Given the description of an element on the screen output the (x, y) to click on. 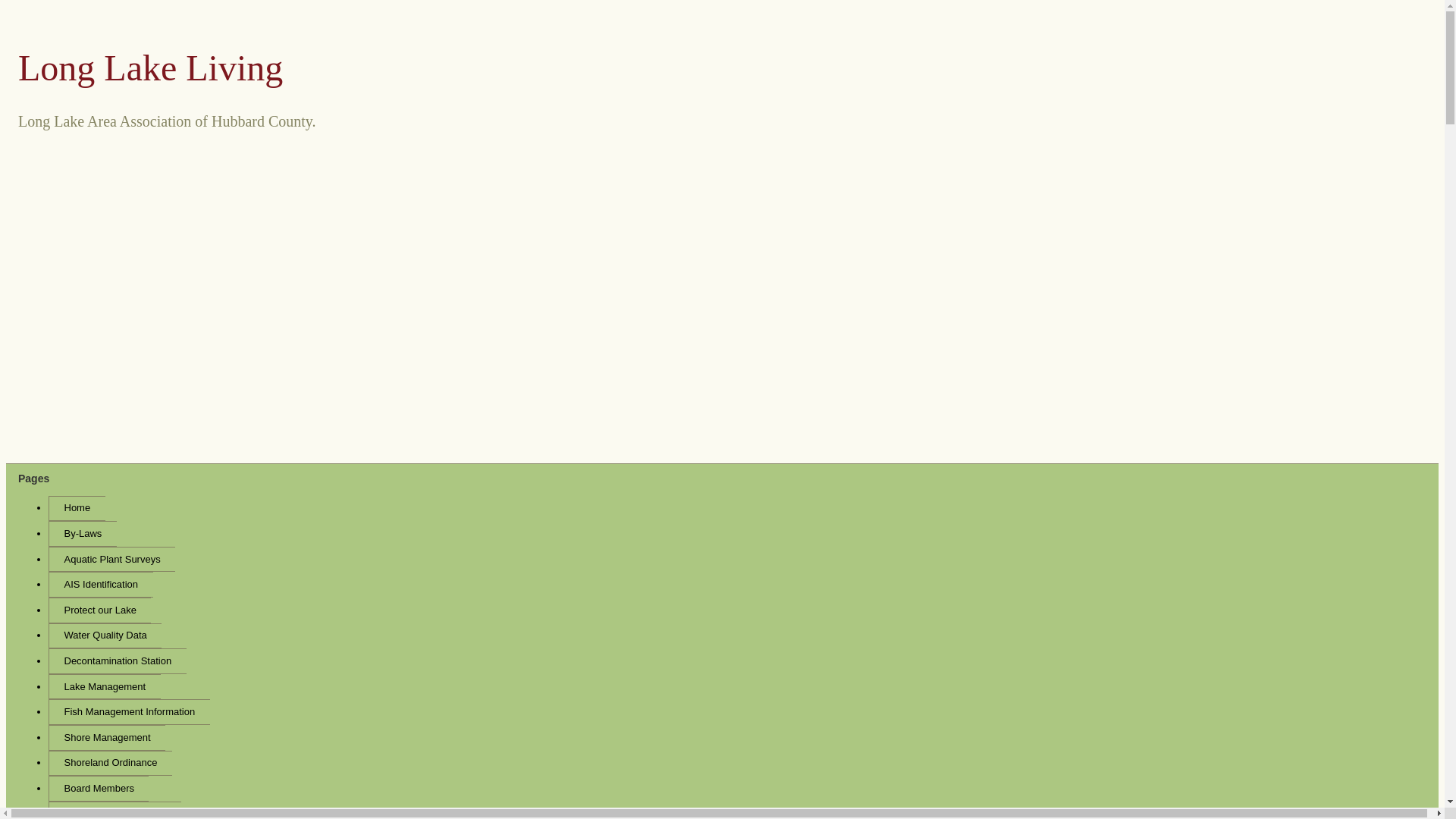
Aquatic Plant Surveys (111, 559)
Lake Management (104, 687)
Long Lake Living (149, 67)
Shoreland Ordinance (109, 763)
Board Communications (114, 810)
Decontamination Station (117, 661)
Home (76, 508)
Shore Management (106, 737)
Water Quality Data (104, 636)
Fish Management Information (128, 711)
By-Laws (82, 533)
Protect our Lake (99, 610)
Board Members (98, 788)
AIS Identification (100, 584)
